Given the description of an element on the screen output the (x, y) to click on. 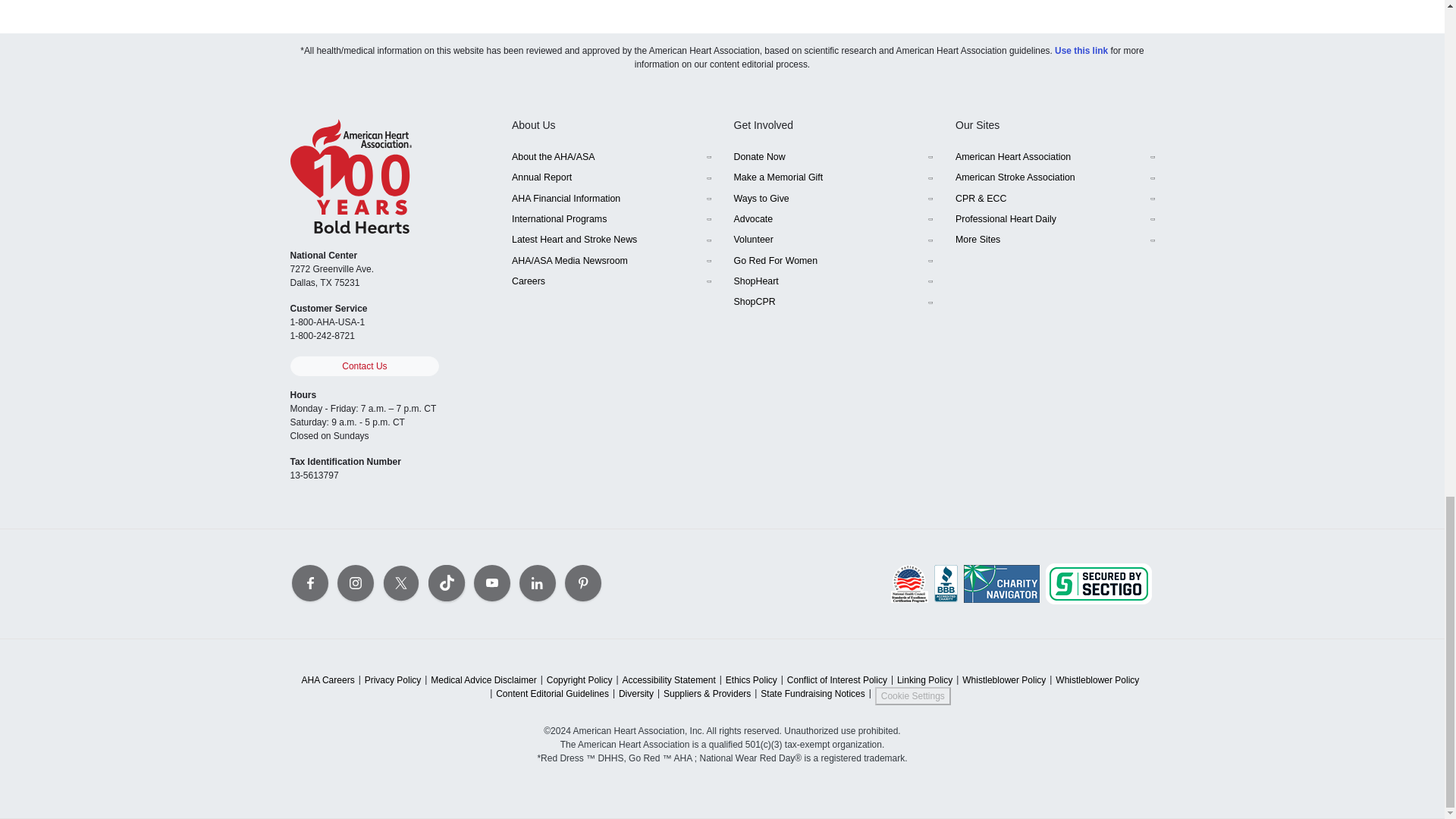
Contact Us (364, 365)
ShopCPR (833, 301)
Annual Report (611, 177)
Volunteer (833, 240)
Make a Memorial Gift (833, 177)
Donate Now (833, 157)
Careers (611, 281)
Annual Report (611, 177)
Advocate (833, 219)
Go Red For Women (833, 260)
